Given the description of an element on the screen output the (x, y) to click on. 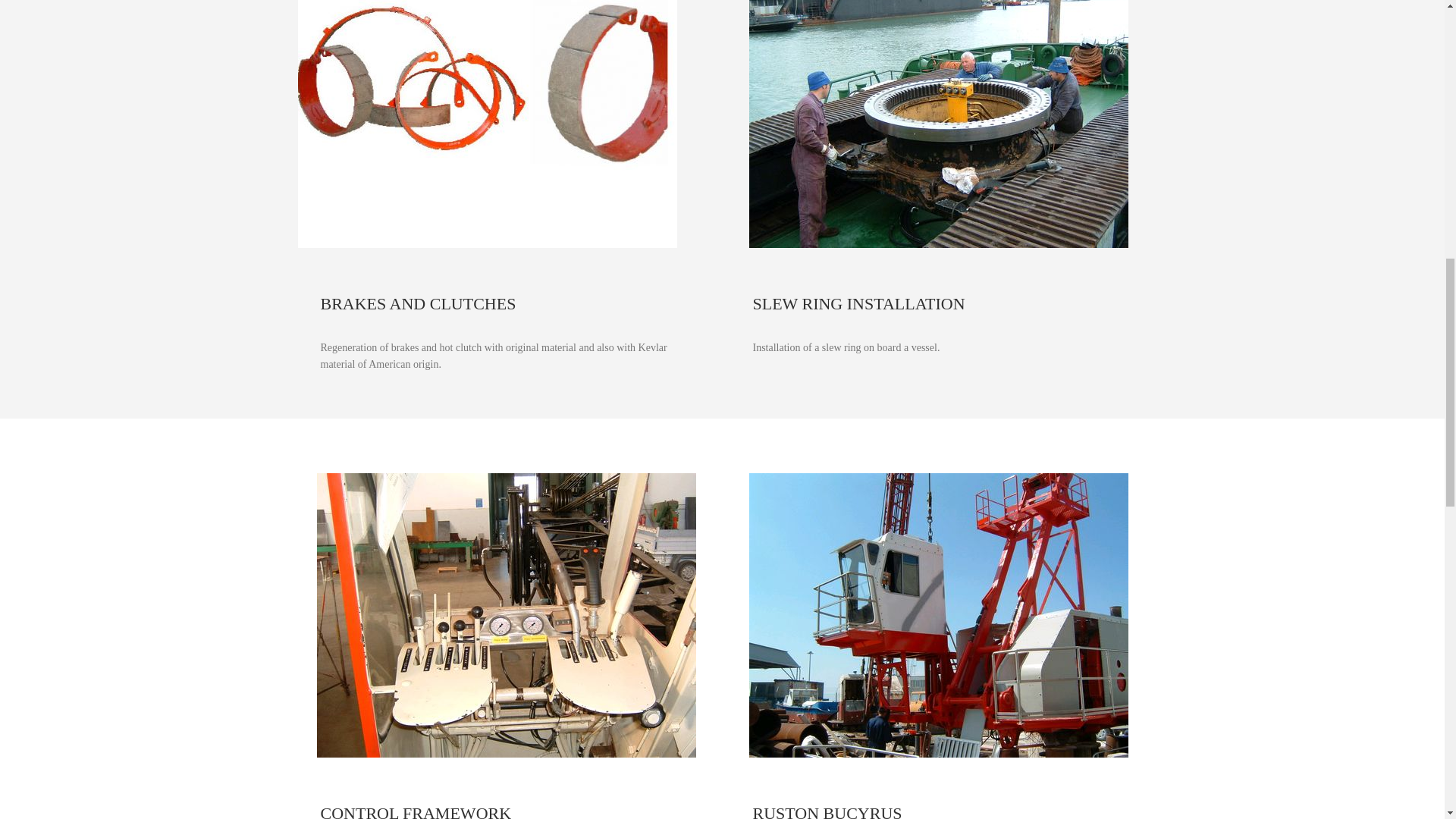
freni (487, 124)
RUSTON BUCYRUS (938, 615)
QUADRO COMANDI (506, 615)
INSTALLAZIONE RALLA (938, 124)
